Given the description of an element on the screen output the (x, y) to click on. 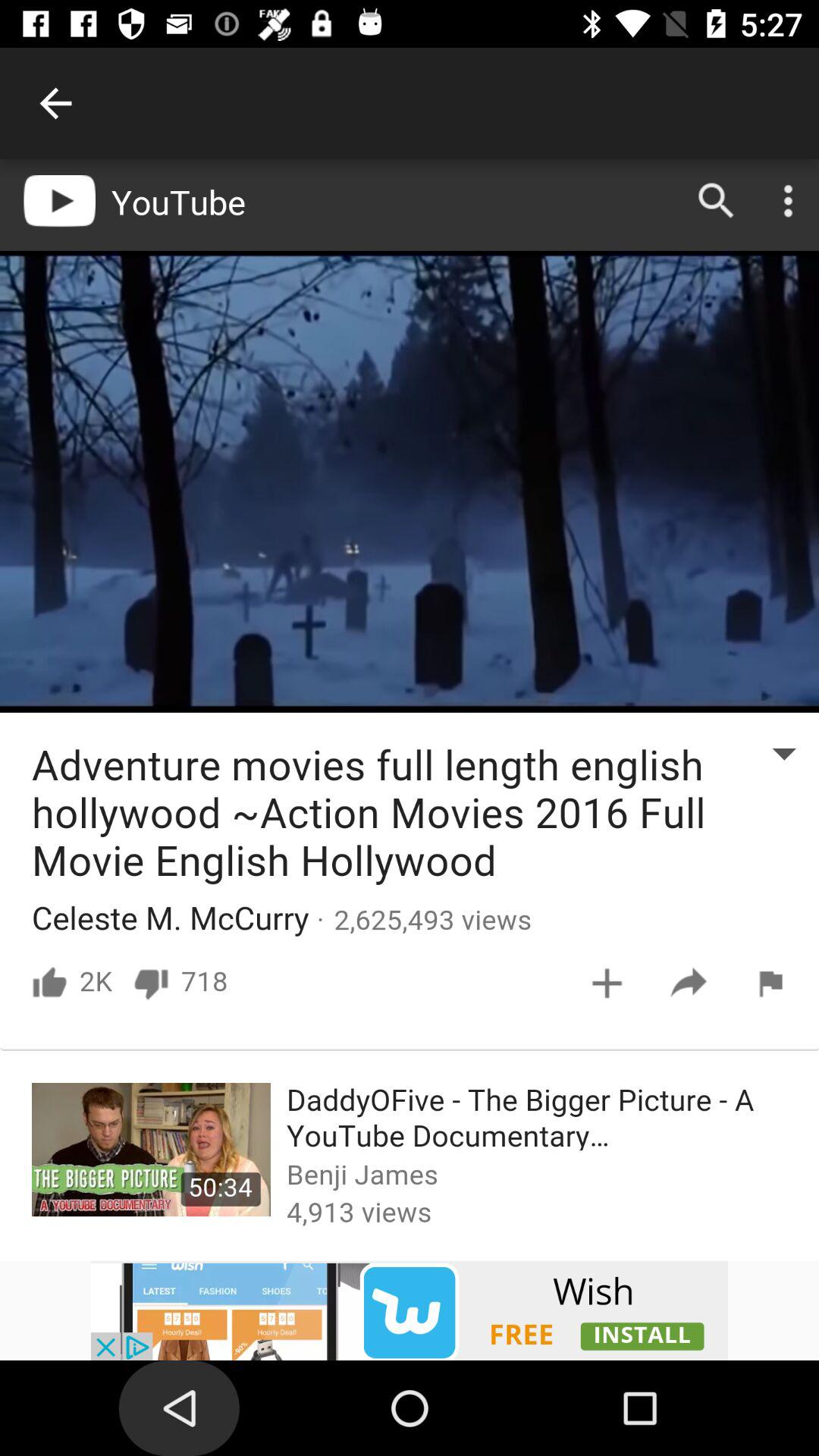
advertisement banner (409, 1310)
